Given the description of an element on the screen output the (x, y) to click on. 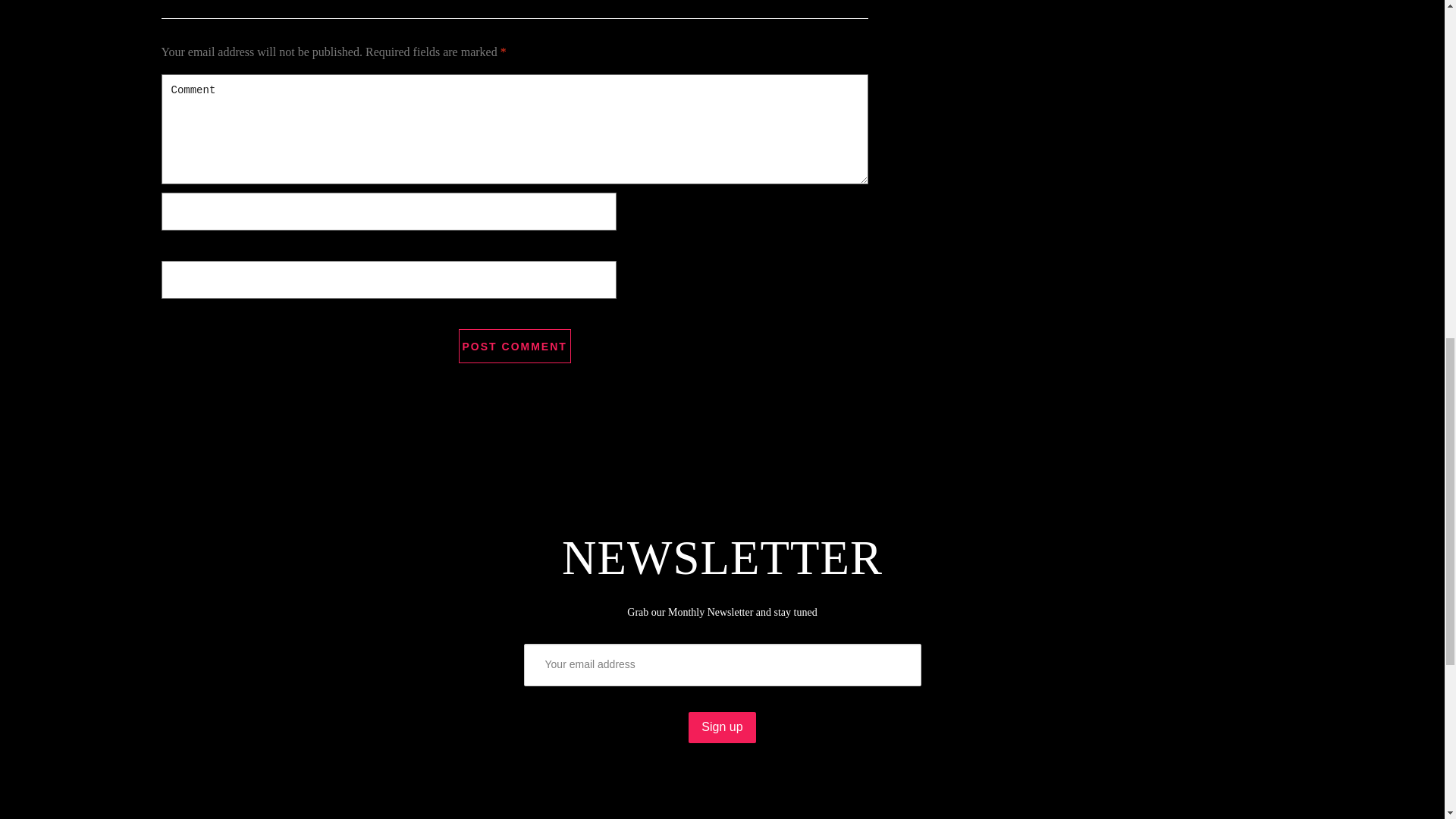
Post Comment (514, 346)
Post Comment (514, 346)
Sign up (721, 726)
Sign up (721, 726)
